Given the description of an element on the screen output the (x, y) to click on. 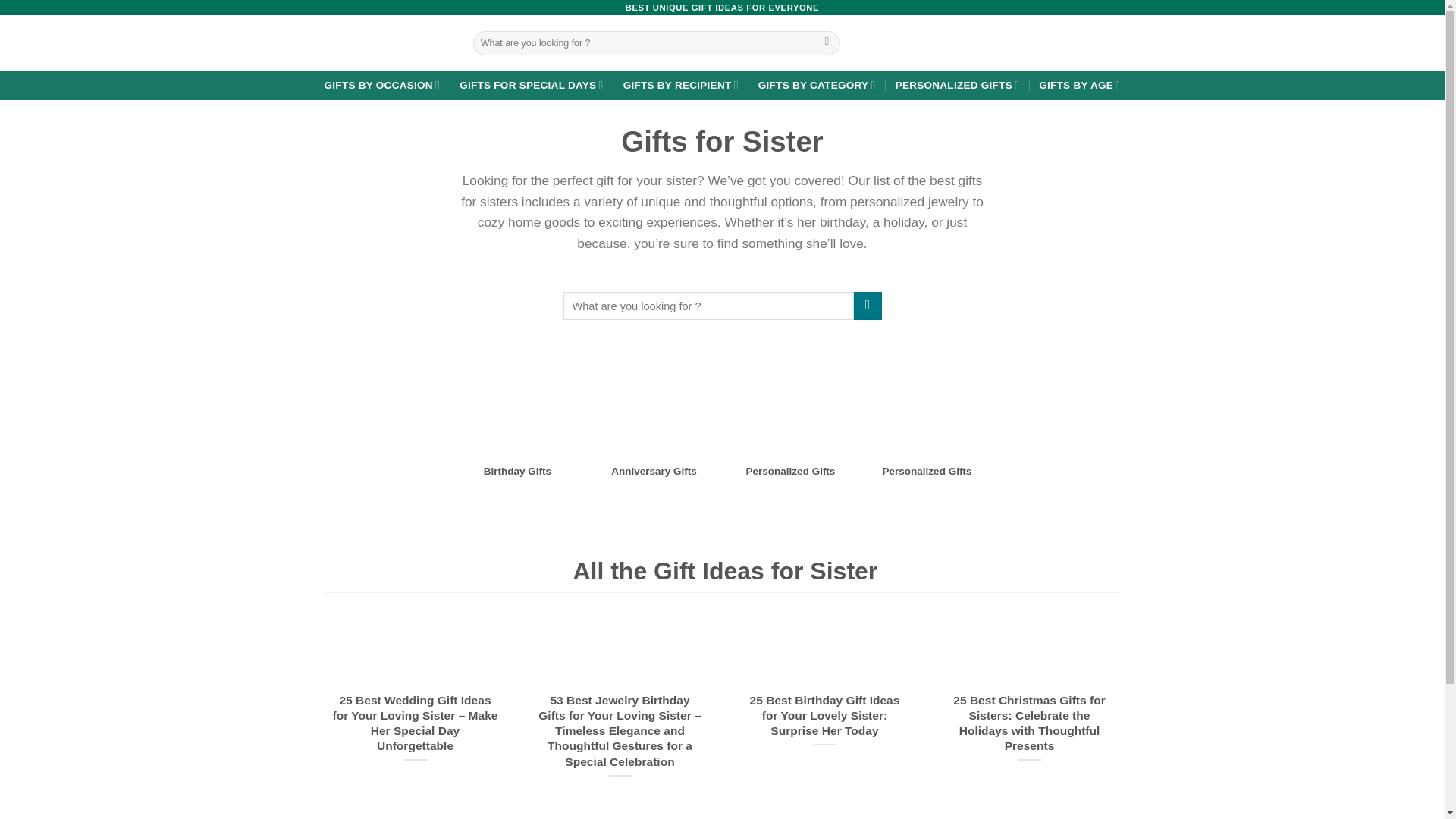
GIFTS BY AGE (1079, 84)
GIFTS BY RECIPIENT (680, 84)
Sister (653, 399)
GIFTS BY OCCASION (382, 84)
Sister (518, 399)
Sister (927, 399)
Sister (790, 399)
